Given the description of an element on the screen output the (x, y) to click on. 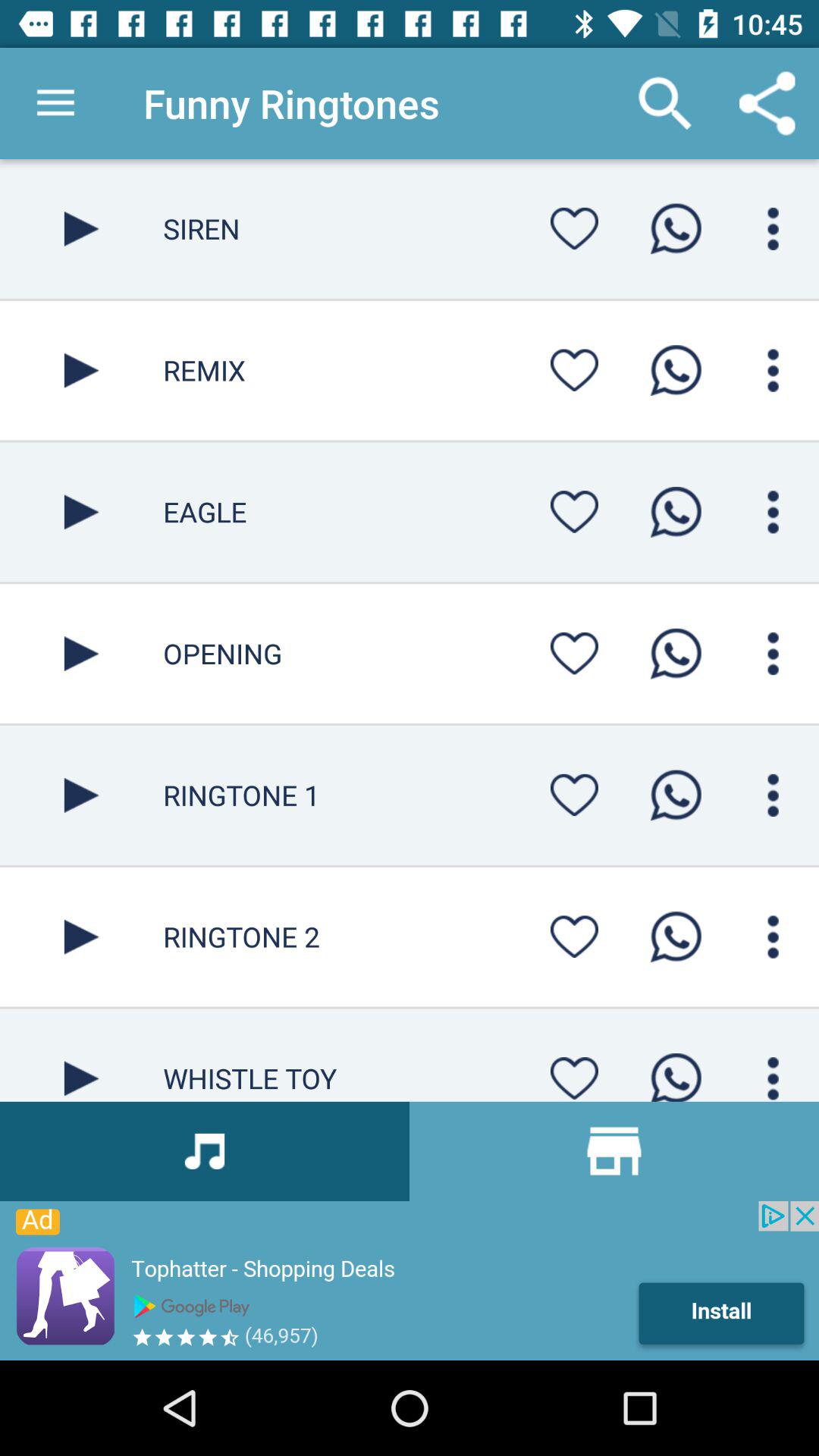
whatsapp (675, 511)
